Given the description of an element on the screen output the (x, y) to click on. 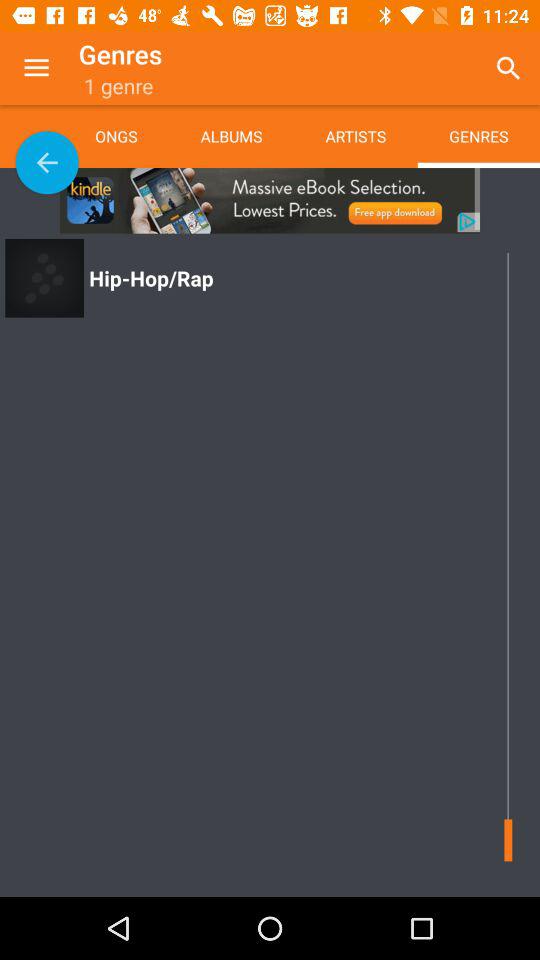
turn on the artists app (355, 136)
